Given the description of an element on the screen output the (x, y) to click on. 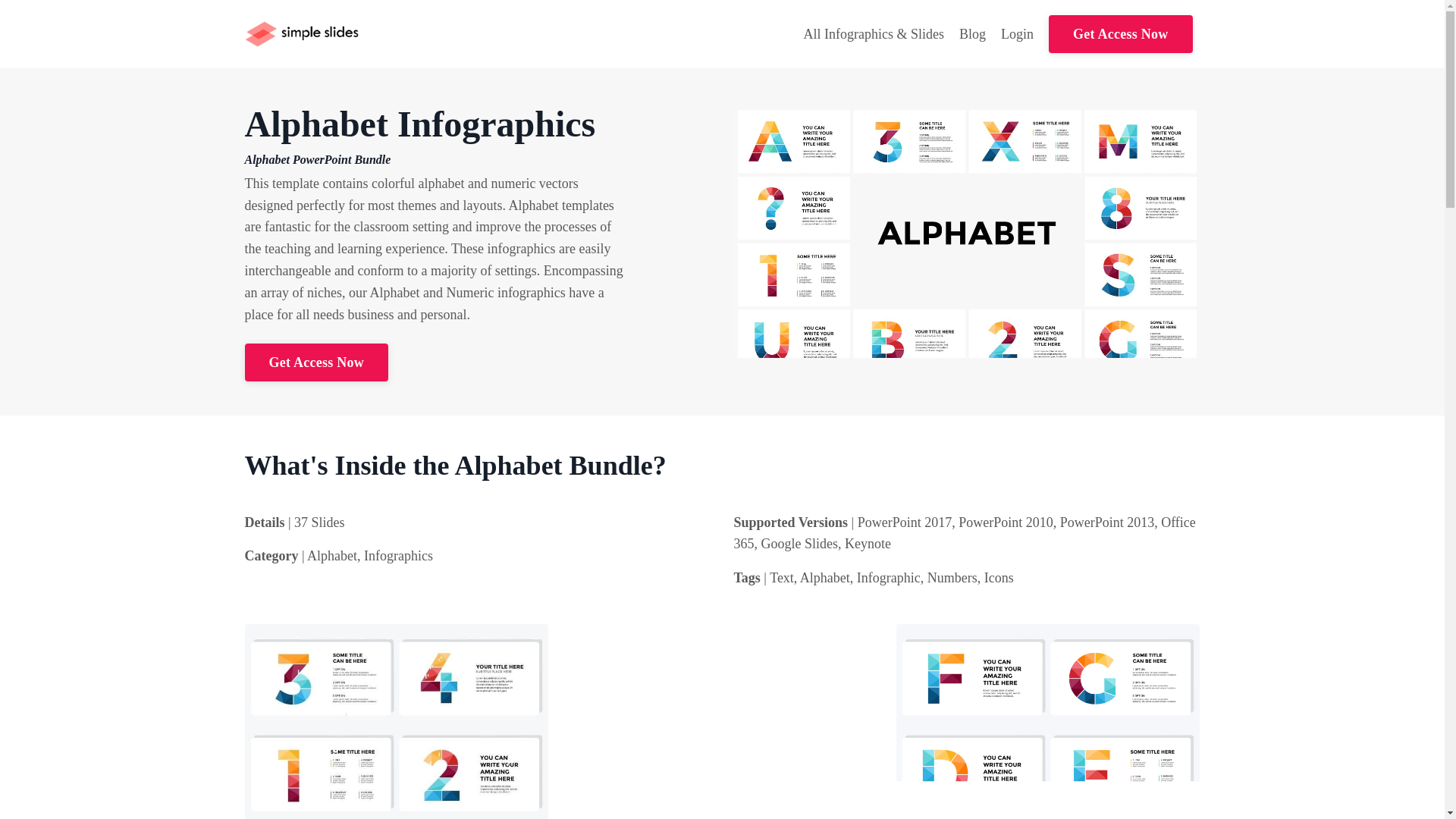
Blog (972, 34)
Login (1017, 33)
Get Access Now (315, 362)
Get Access Now (1120, 34)
